Given the description of an element on the screen output the (x, y) to click on. 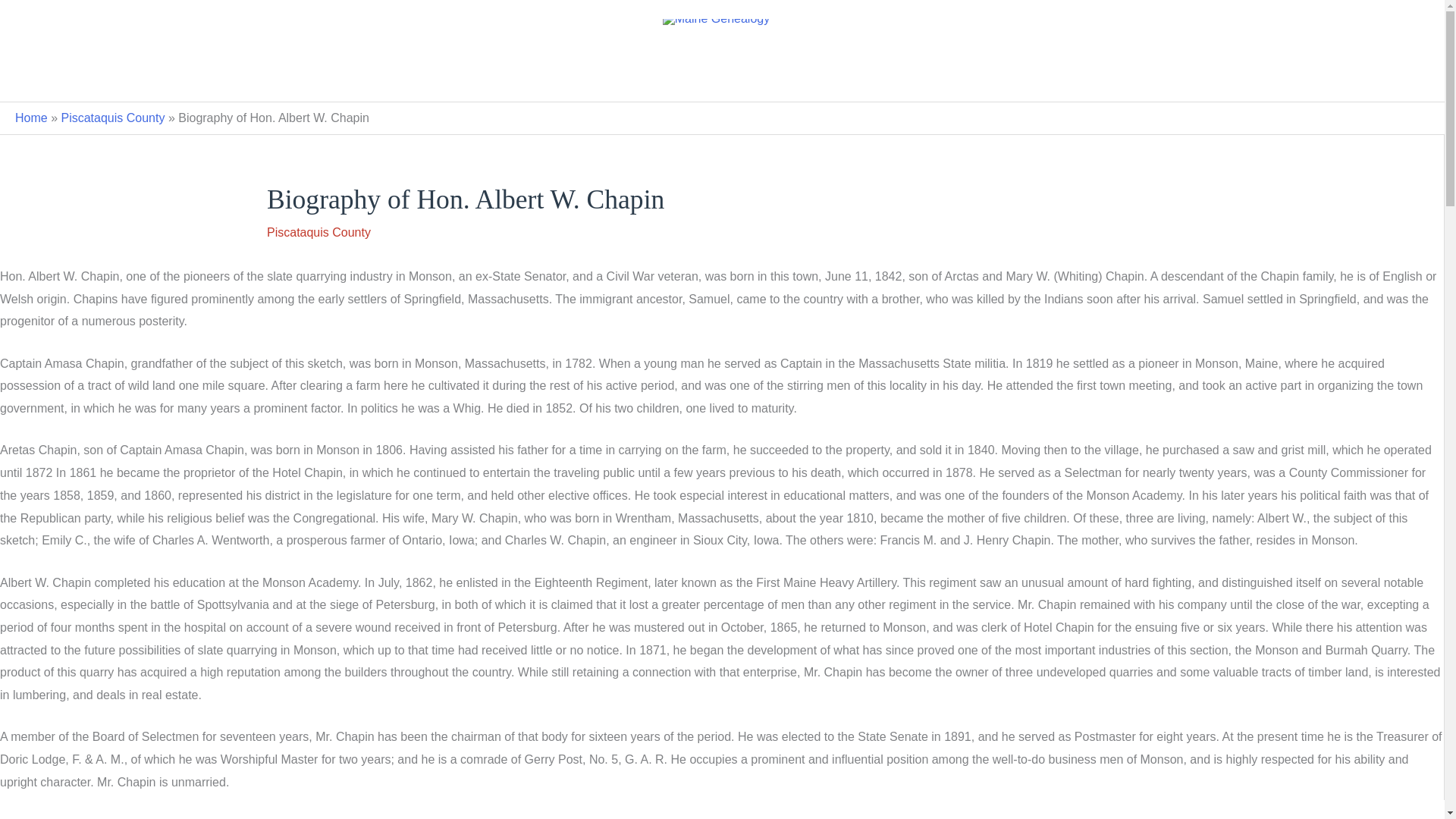
Piscataquis County (112, 117)
Piscataquis County (318, 232)
Contact Us! (722, 77)
Home (31, 117)
